Given the description of an element on the screen output the (x, y) to click on. 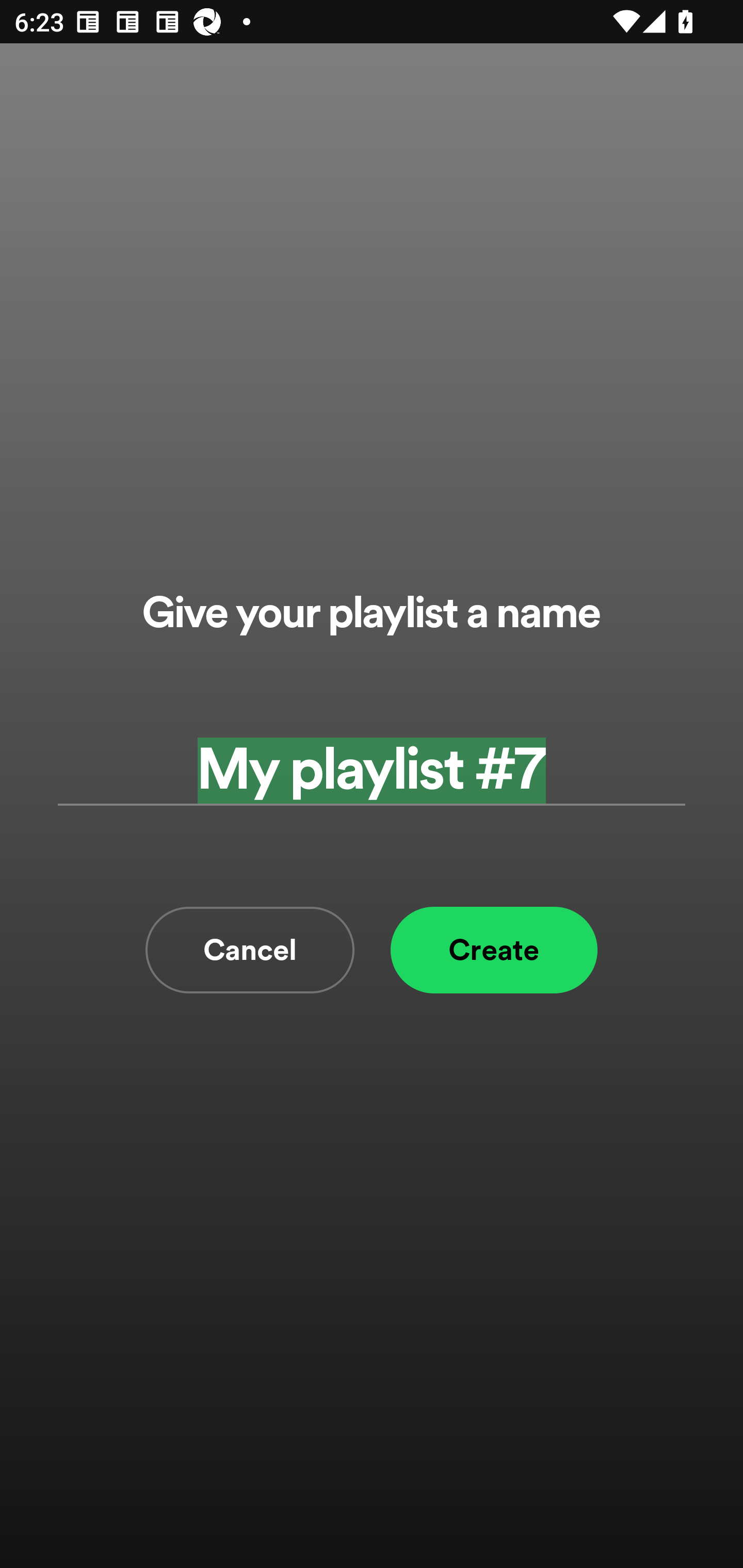
My playlist #7 Add a playlist name (371, 769)
Cancel (249, 950)
Create (493, 950)
